Given the description of an element on the screen output the (x, y) to click on. 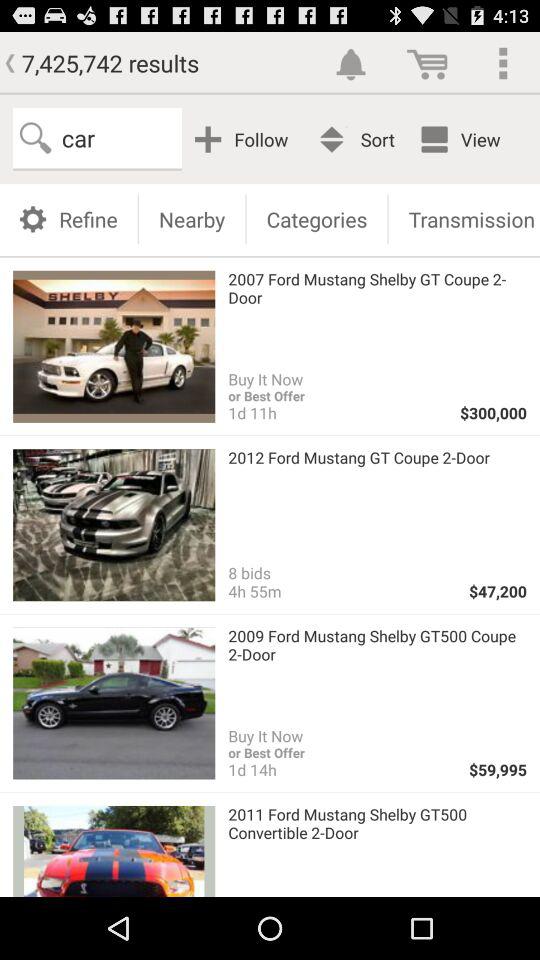
click the three dots button on the top right corner of the web page (503, 63)
click on the last image (113, 851)
click on the follow button (244, 139)
select the first image on the web page (113, 346)
